Given the description of an element on the screen output the (x, y) to click on. 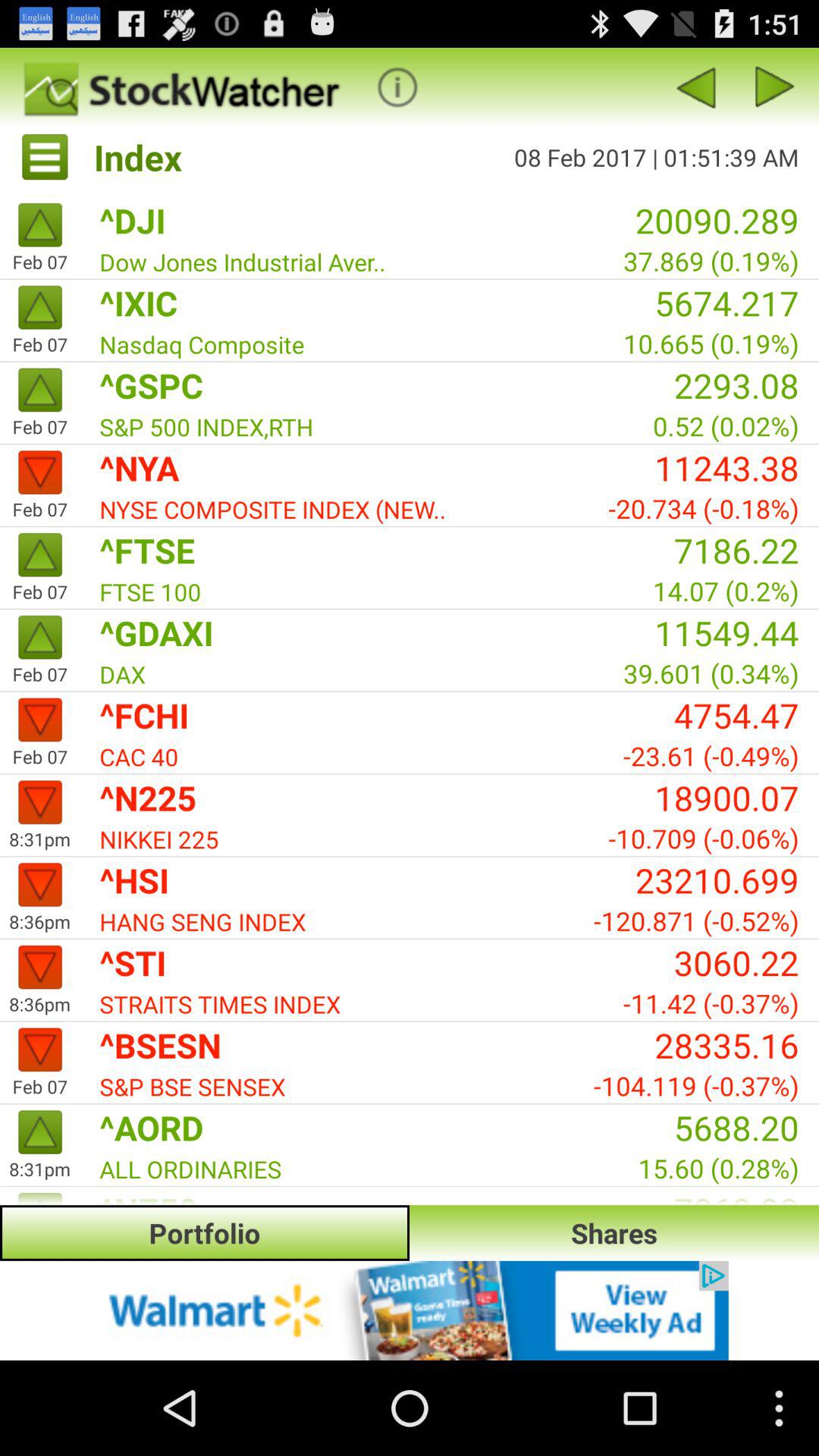
menu pega (397, 87)
